Given the description of an element on the screen output the (x, y) to click on. 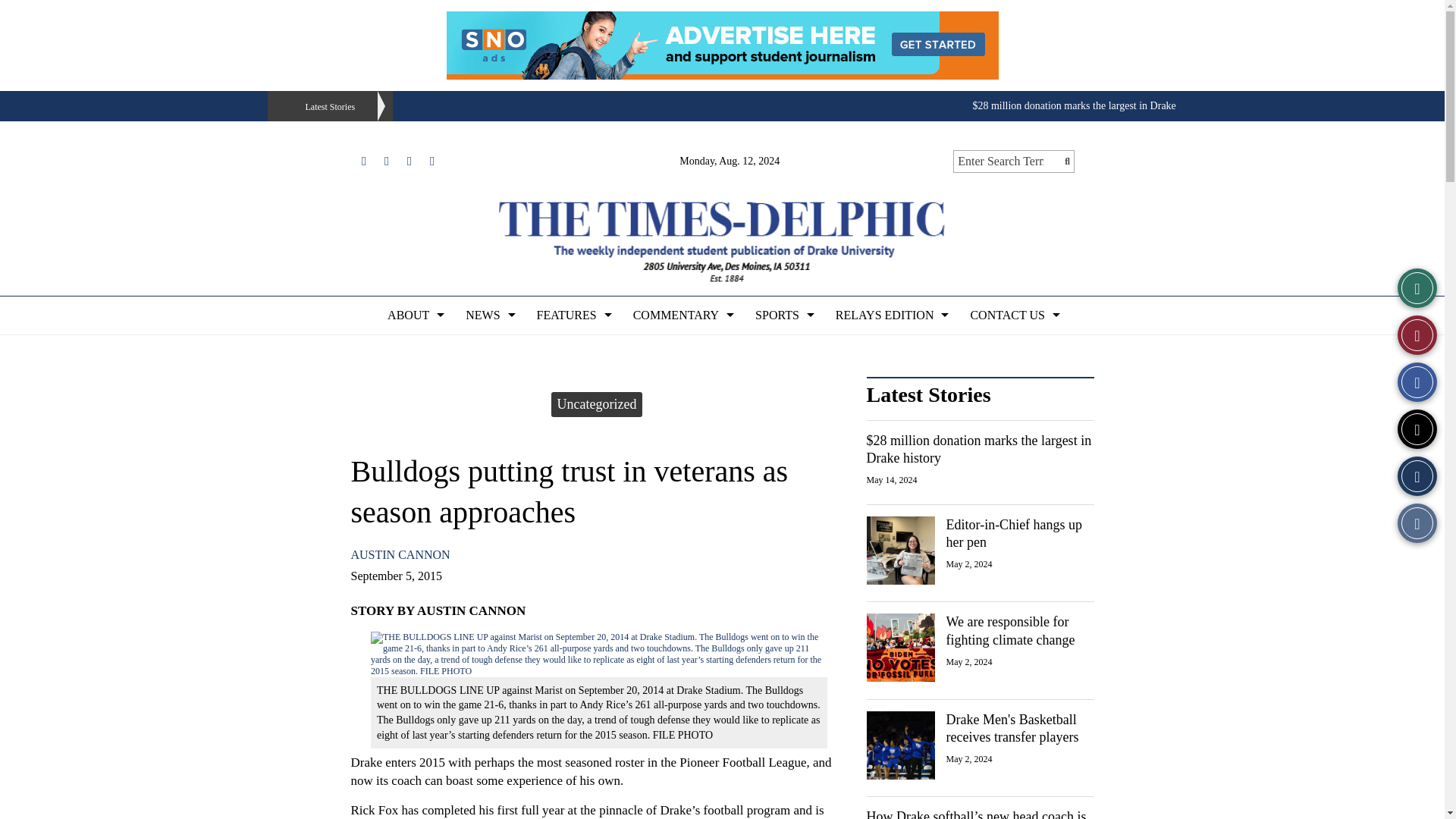
COMMENTARY (681, 315)
SPORTS (783, 315)
FEATURES (572, 315)
ABOUT (413, 315)
NEWS (488, 315)
